Given the description of an element on the screen output the (x, y) to click on. 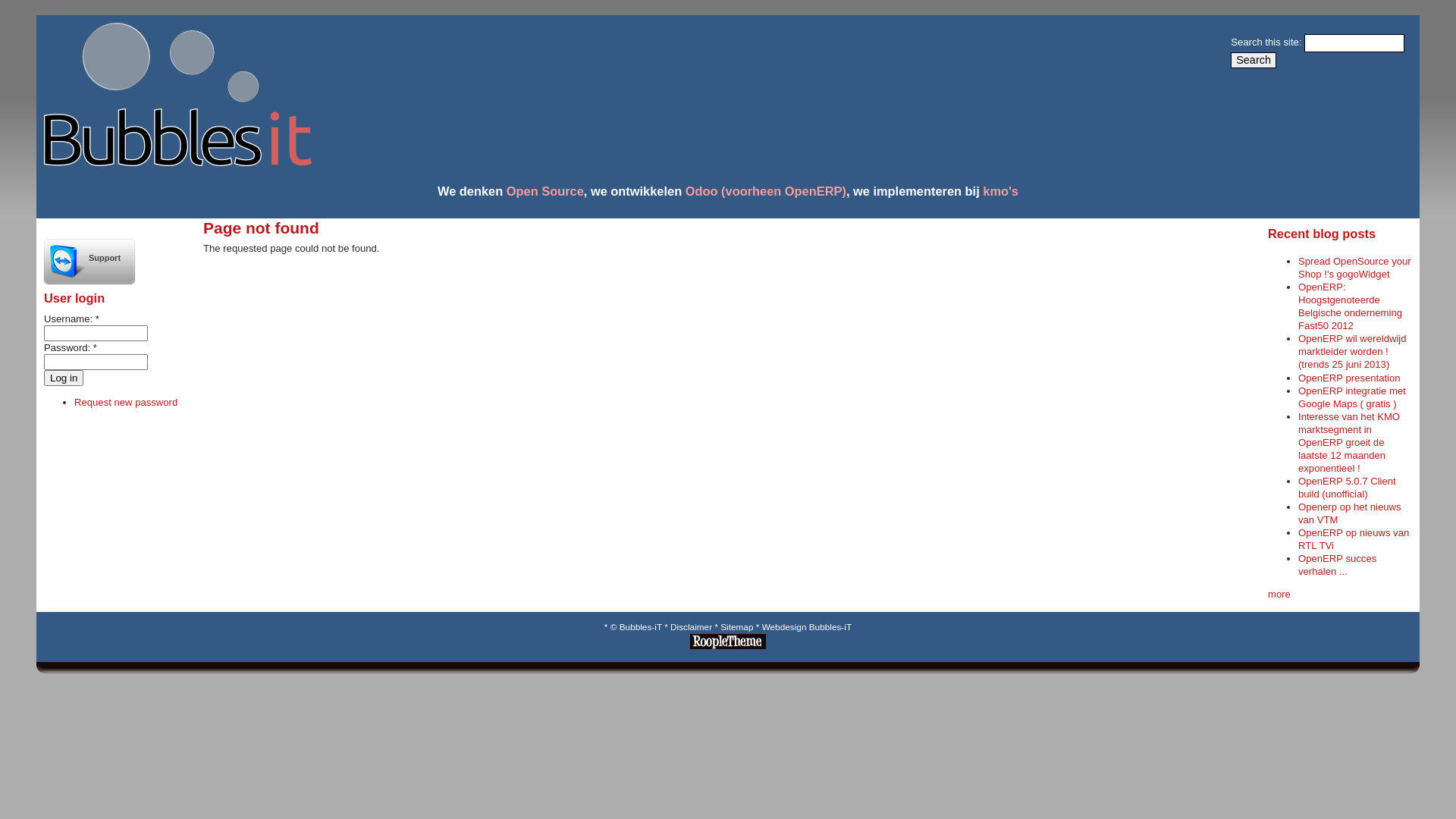
RoopleTheme! Element type: hover (727, 645)
Open Source Element type: text (544, 190)
Openerp op het nieuws van VTM Element type: text (1349, 513)
Support Element type: text (88, 311)
OpenERP: Hoogstgenoteerde Belgische onderneming Fast50 2012 Element type: text (1350, 306)
Enter the terms you wish to search for. Element type: hover (1354, 43)
Search Element type: text (1253, 60)
OpenERP presentation Element type: text (1349, 377)
Spread OpenSource your Shop !'s gogoWidget Element type: text (1354, 267)
Home Element type: hover (173, 162)
Odoo (voorheen OpenERP) Element type: text (765, 190)
OpenERP succes verhalen ... Element type: text (1337, 564)
Support Element type: hover (88, 261)
OpenERP 5.0.7 Client build (unofficial) Element type: text (1347, 487)
more Element type: text (1278, 593)
kmo's Element type: text (1000, 190)
Log in Element type: text (63, 377)
OpenERP integratie met Google Maps ( gratis ) Element type: text (1351, 397)
Request new password Element type: text (125, 401)
OpenERP op nieuws van RTL TVi Element type: text (1353, 539)
